Given the description of an element on the screen output the (x, y) to click on. 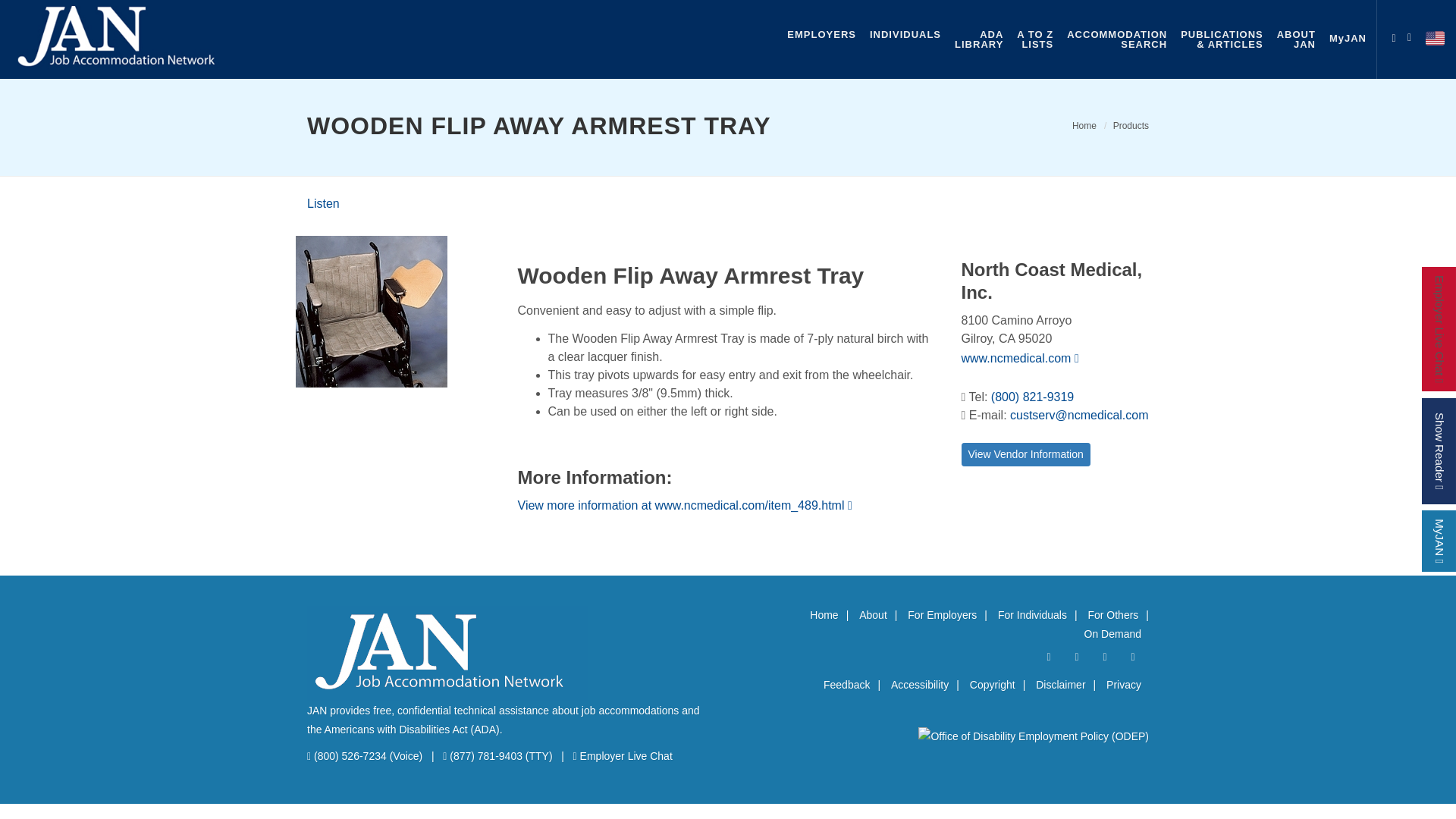
www.ncmedical.com (1019, 358)
Open Search (1412, 35)
Products (1130, 125)
EMPLOYERS (820, 34)
Home (1083, 125)
Open Menu (1394, 35)
Listen (323, 203)
Listen to this page using ReadSpeaker webReader (323, 203)
INDIVIDUALS (905, 34)
